Given the description of an element on the screen output the (x, y) to click on. 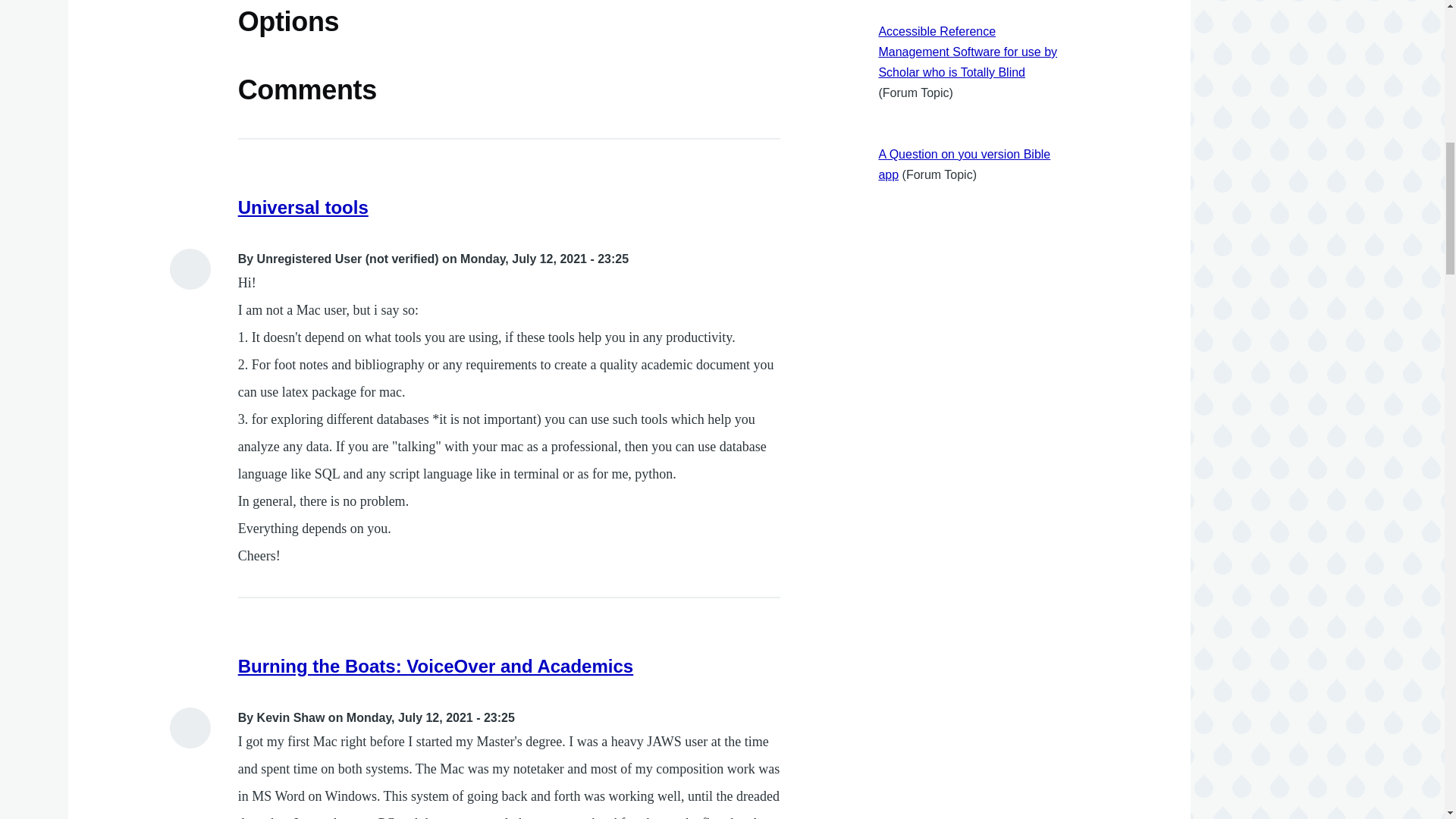
Burning the Boats: VoiceOver and Academics (435, 666)
A Question on you version Bible app (963, 164)
Universal tools (303, 207)
